Given the description of an element on the screen output the (x, y) to click on. 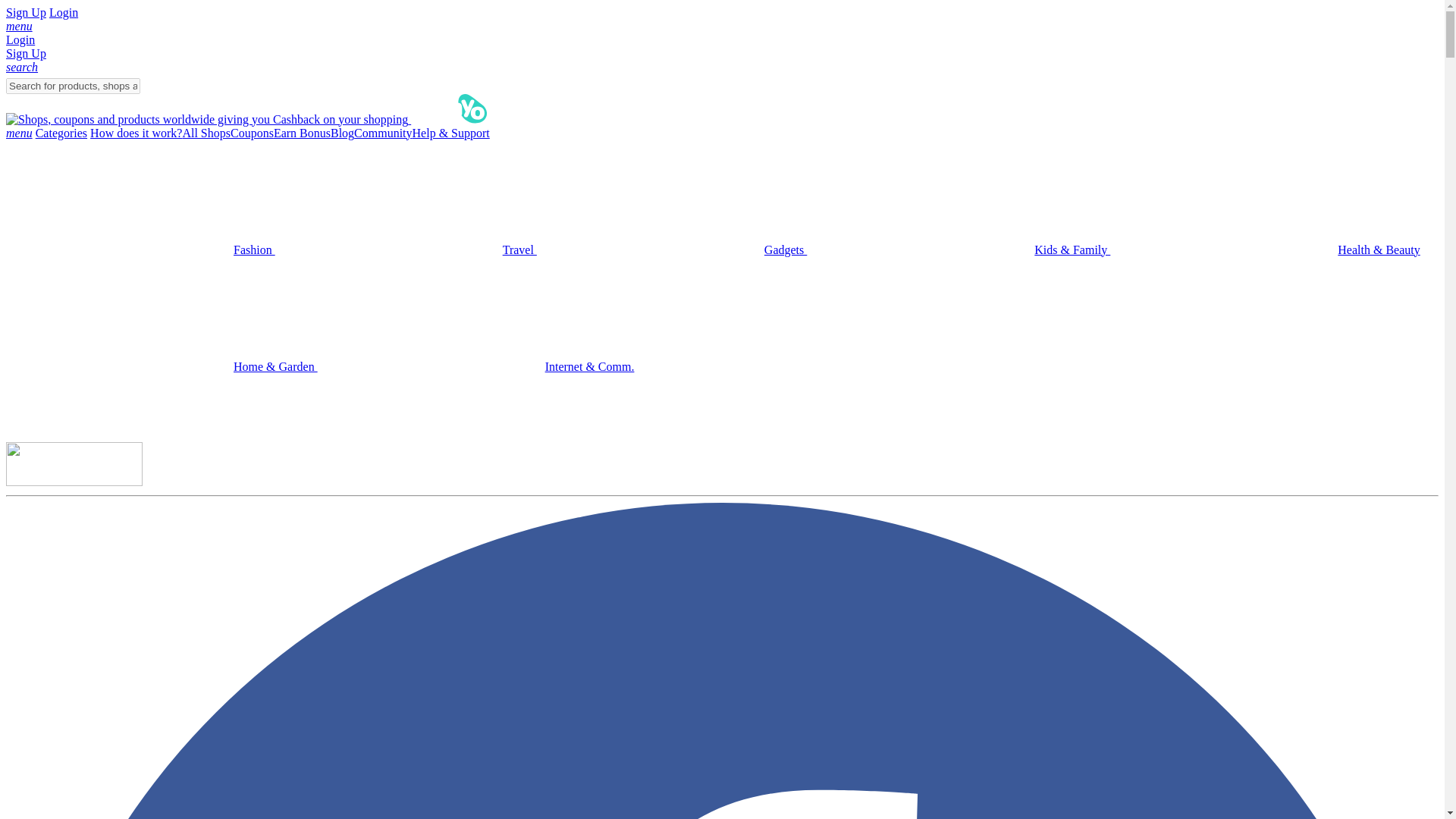
Blog (341, 132)
Earn Bonus (301, 132)
Read our latest cashback news (382, 132)
Sign Up (25, 52)
All Shops (206, 132)
Search for products, shops and sales (72, 85)
coupons and deals (251, 132)
How does it work? (136, 132)
Categories (60, 132)
menu (18, 132)
Community (382, 132)
Login (63, 11)
Refer friends to cashback-express and get rewarded! (301, 132)
Coupons (251, 132)
